Given the description of an element on the screen output the (x, y) to click on. 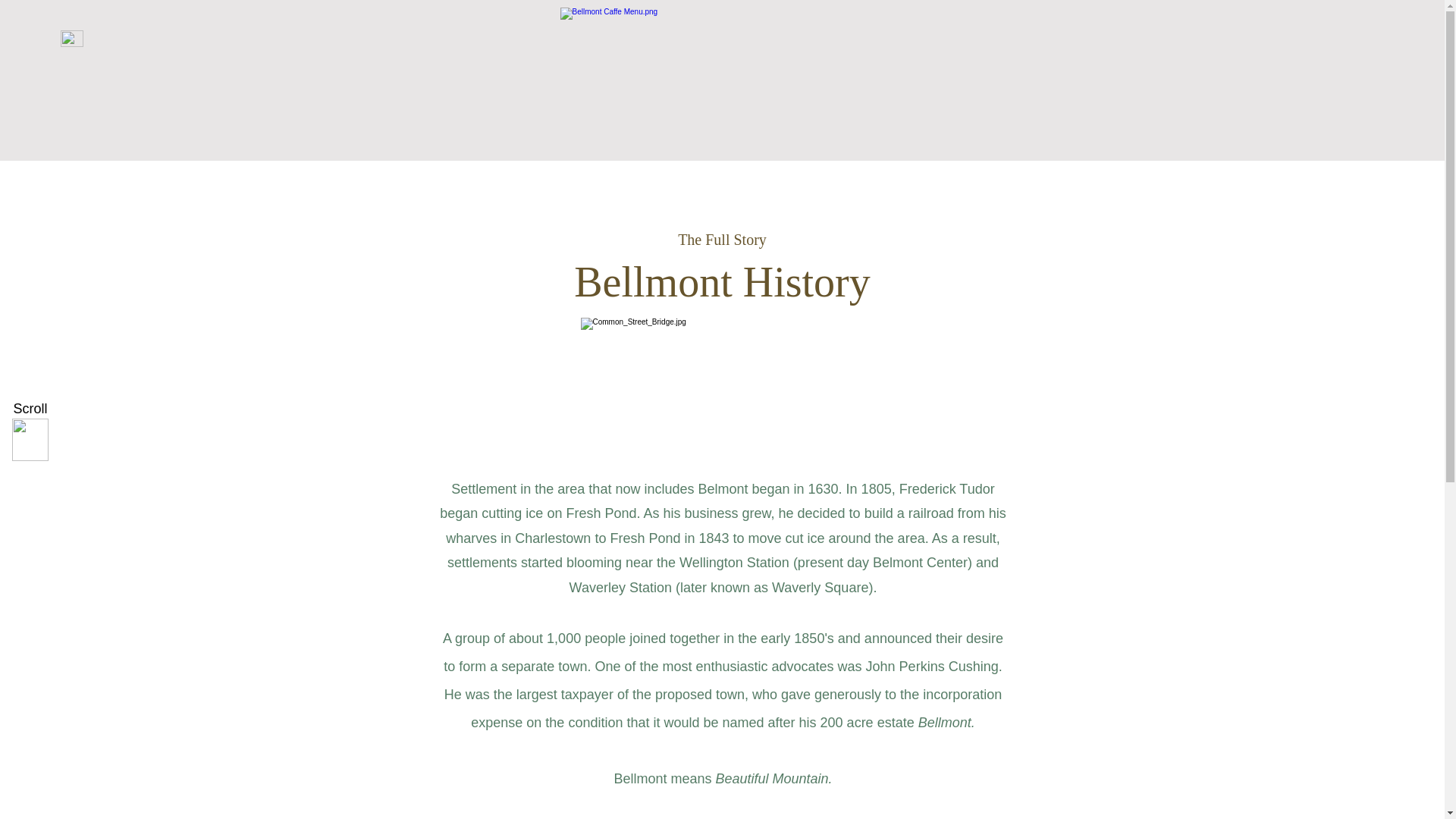
Scroll (29, 409)
